Given the description of an element on the screen output the (x, y) to click on. 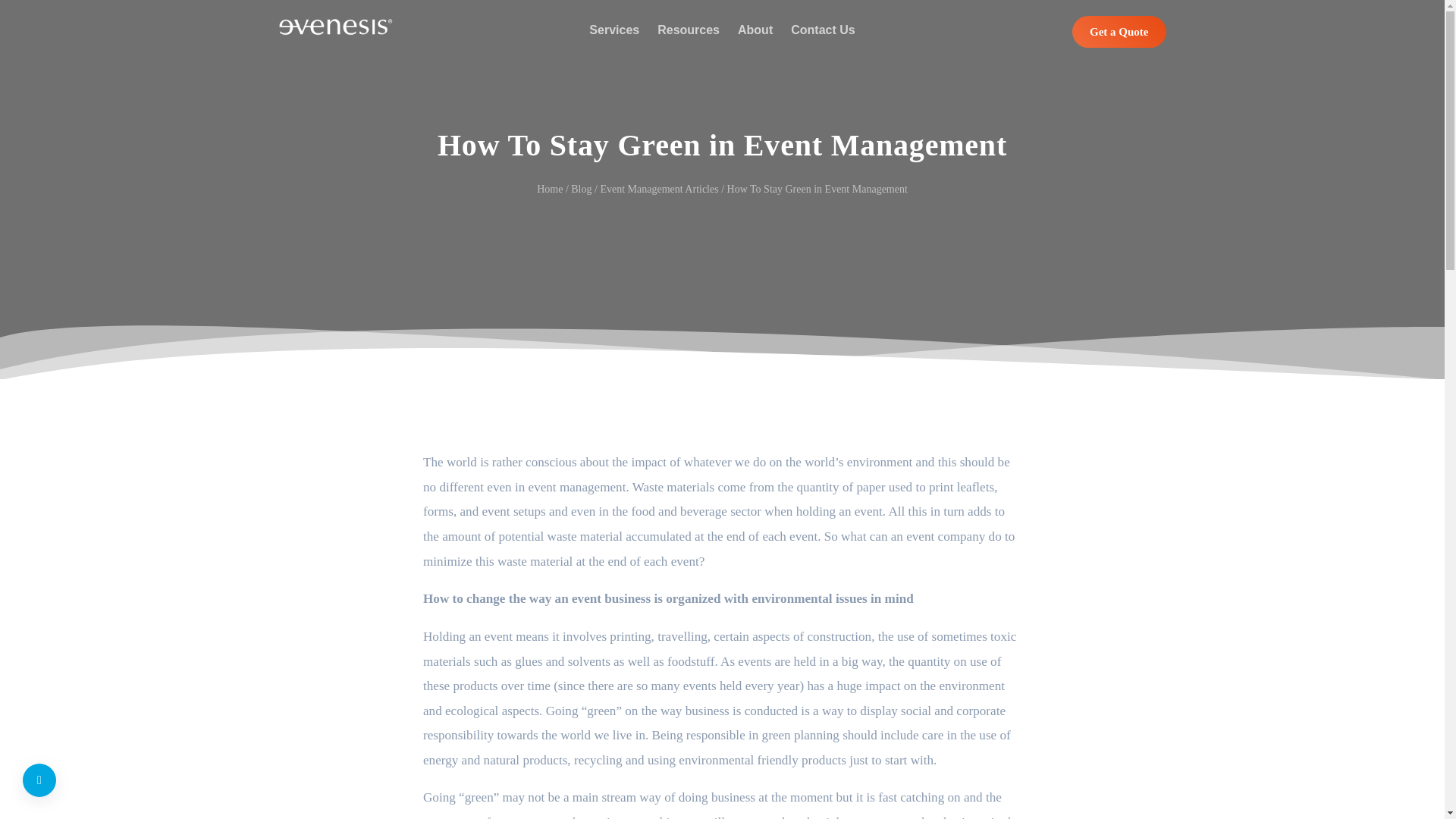
Event Management Articles (658, 189)
